Given the description of an element on the screen output the (x, y) to click on. 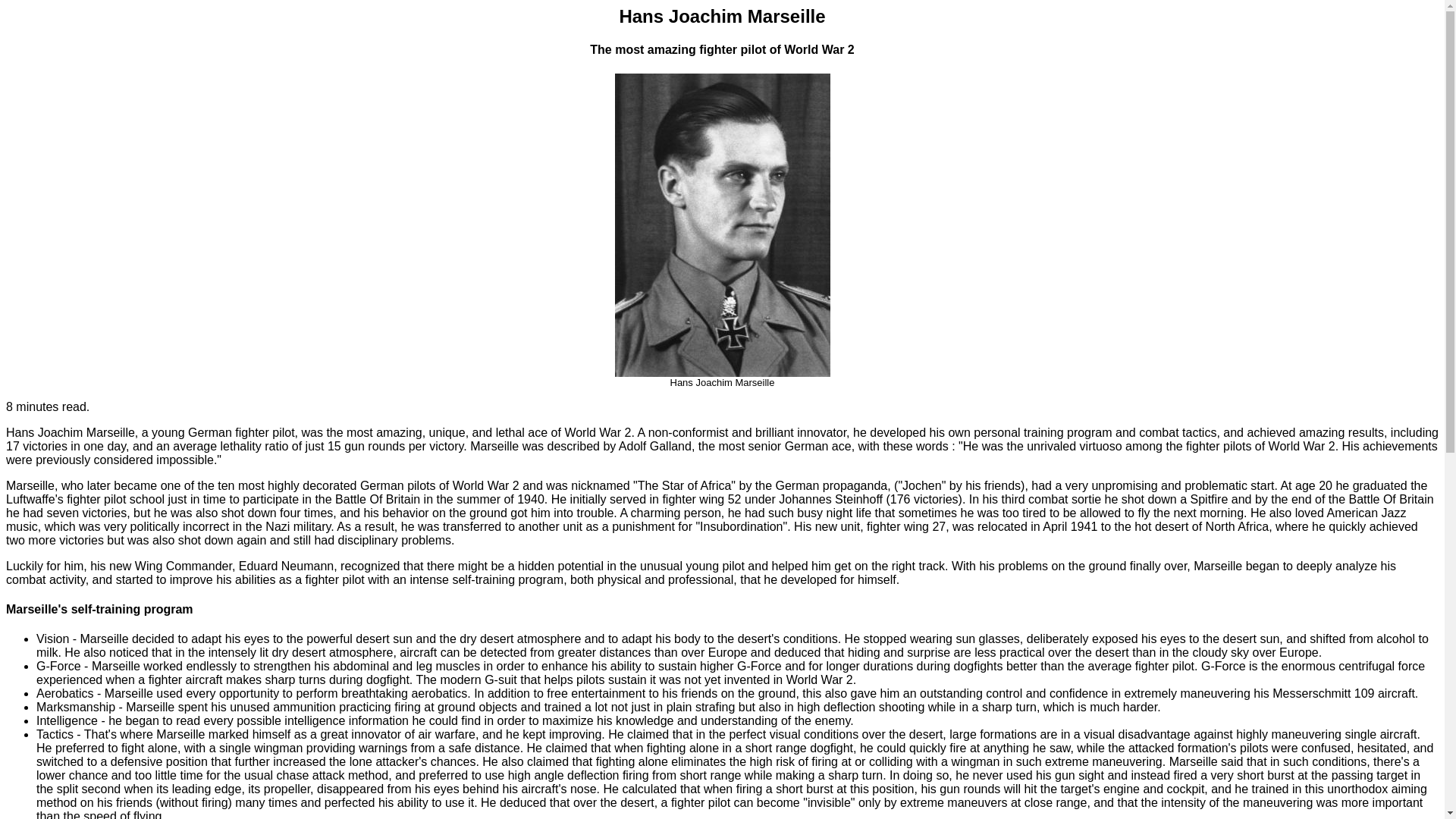
Hans Joachim Marseille Element type: hover (721, 224)
